Given the description of an element on the screen output the (x, y) to click on. 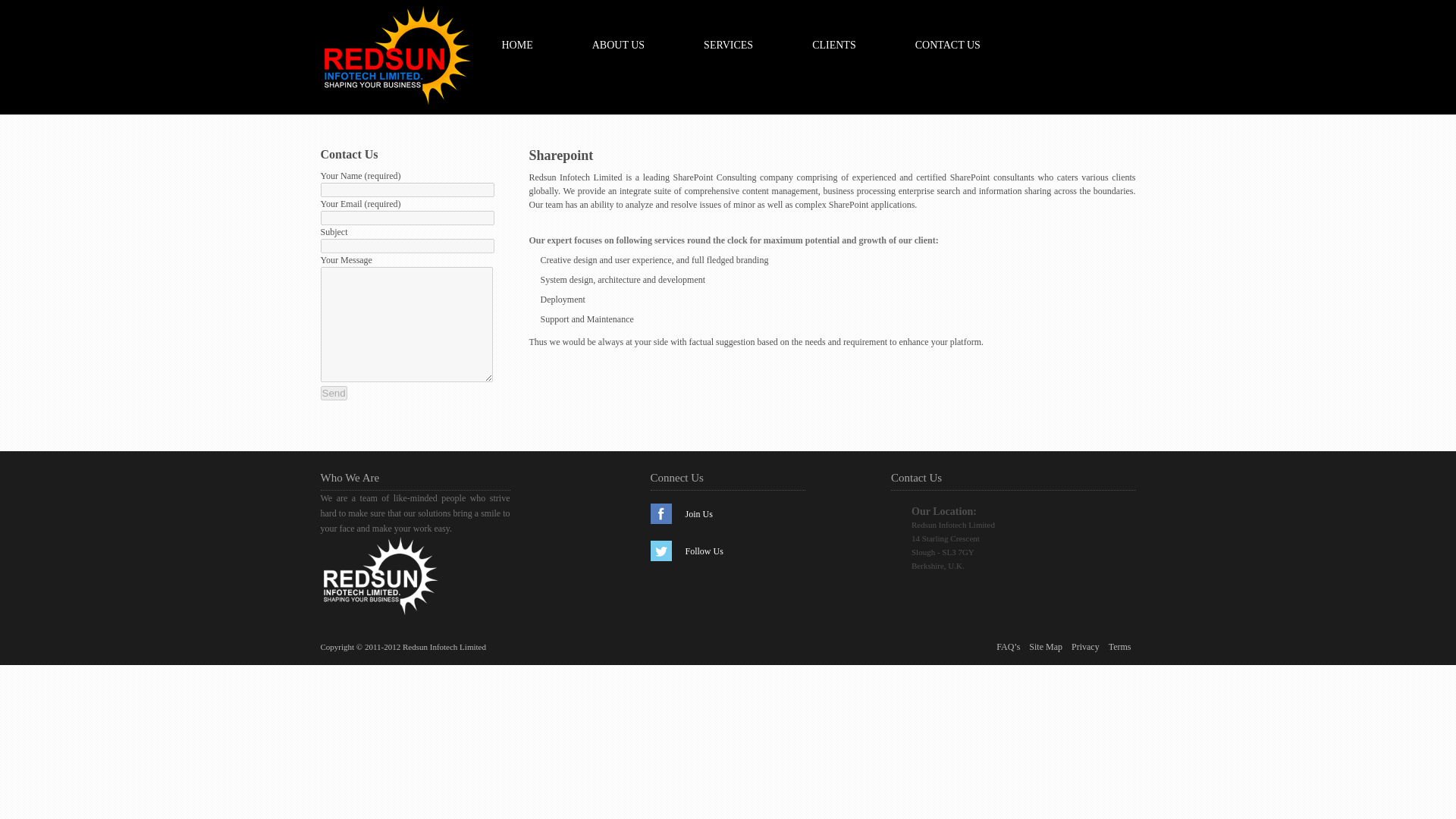
Follow Us (704, 551)
Terms (1119, 646)
Site Map (1045, 646)
ABOUT US (618, 45)
HOME (517, 45)
Join Us (699, 513)
Send (333, 392)
CONTACT US (947, 45)
SERVICES (727, 45)
Privacy (1085, 646)
